Given the description of an element on the screen output the (x, y) to click on. 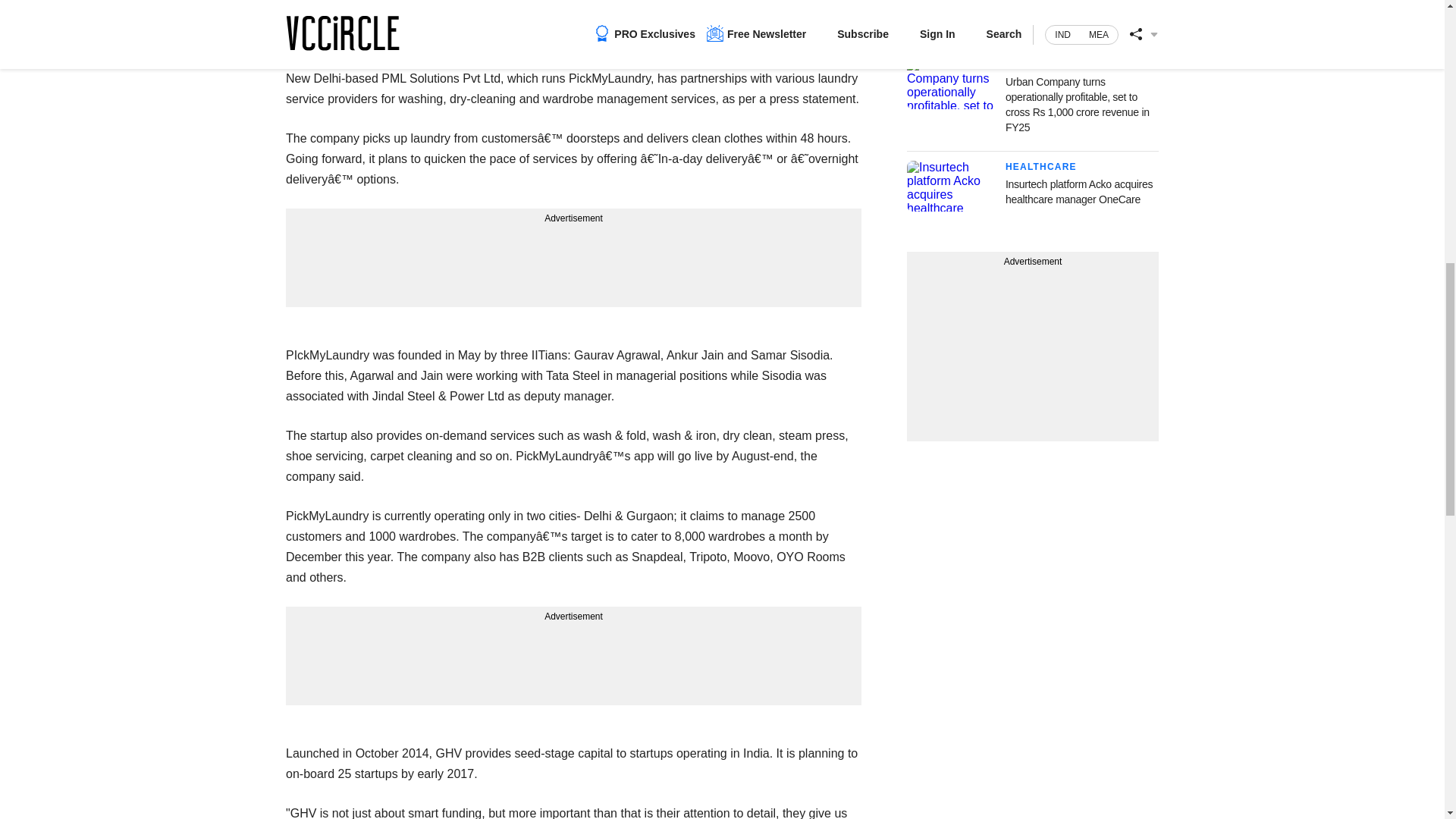
PickMyLaundry (326, 2)
